Given the description of an element on the screen output the (x, y) to click on. 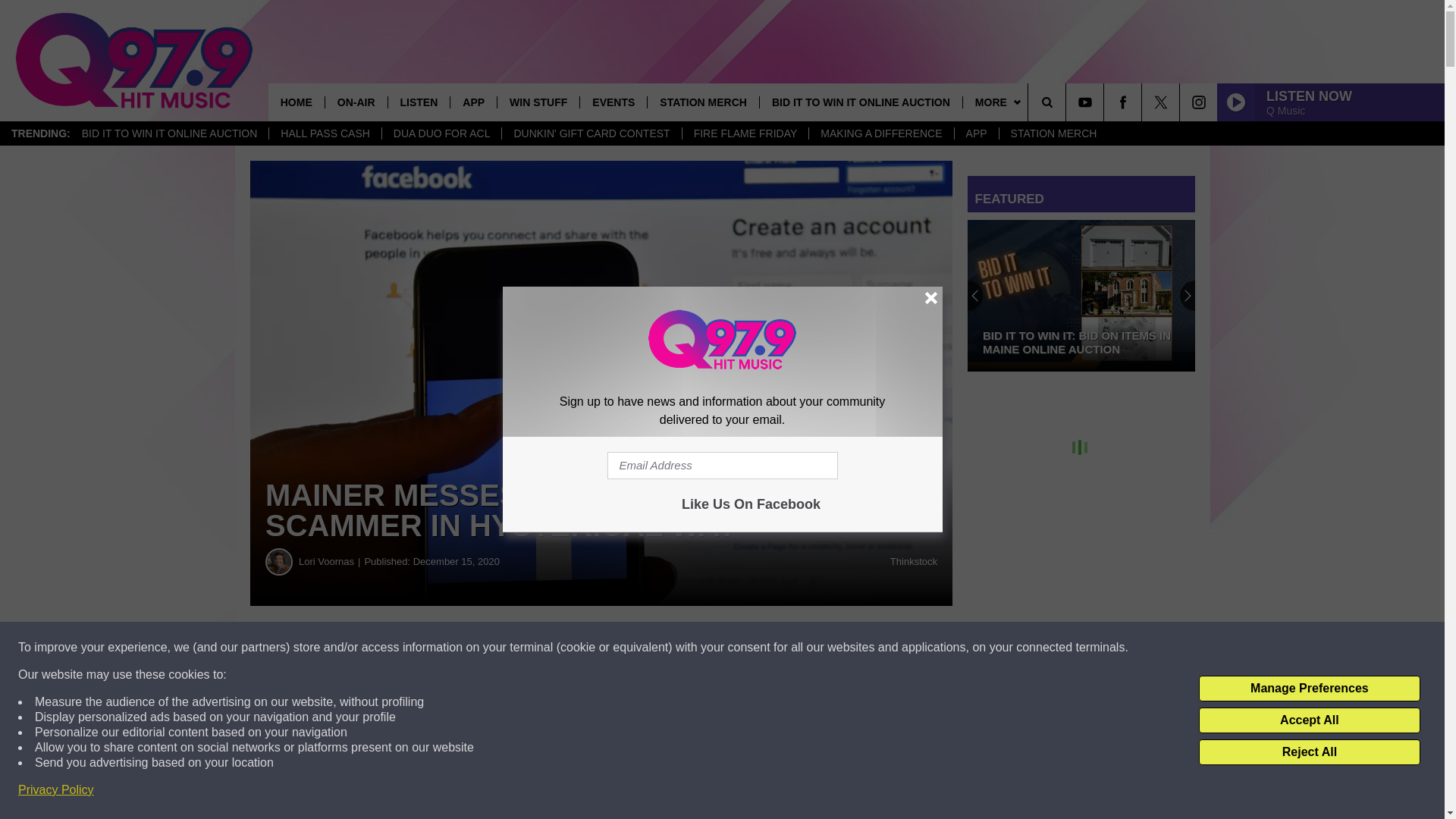
Email Address (722, 465)
MAKING A DIFFERENCE (880, 133)
LISTEN (418, 102)
STATION MERCH (1053, 133)
HOME (295, 102)
DUA DUO FOR ACL (441, 133)
APP (472, 102)
Manage Preferences (1309, 688)
HALL PASS CASH (324, 133)
Share on Twitter (741, 647)
APP (975, 133)
EVENTS (612, 102)
SEARCH (1068, 102)
Accept All (1309, 720)
WIN STUFF (537, 102)
